Given the description of an element on the screen output the (x, y) to click on. 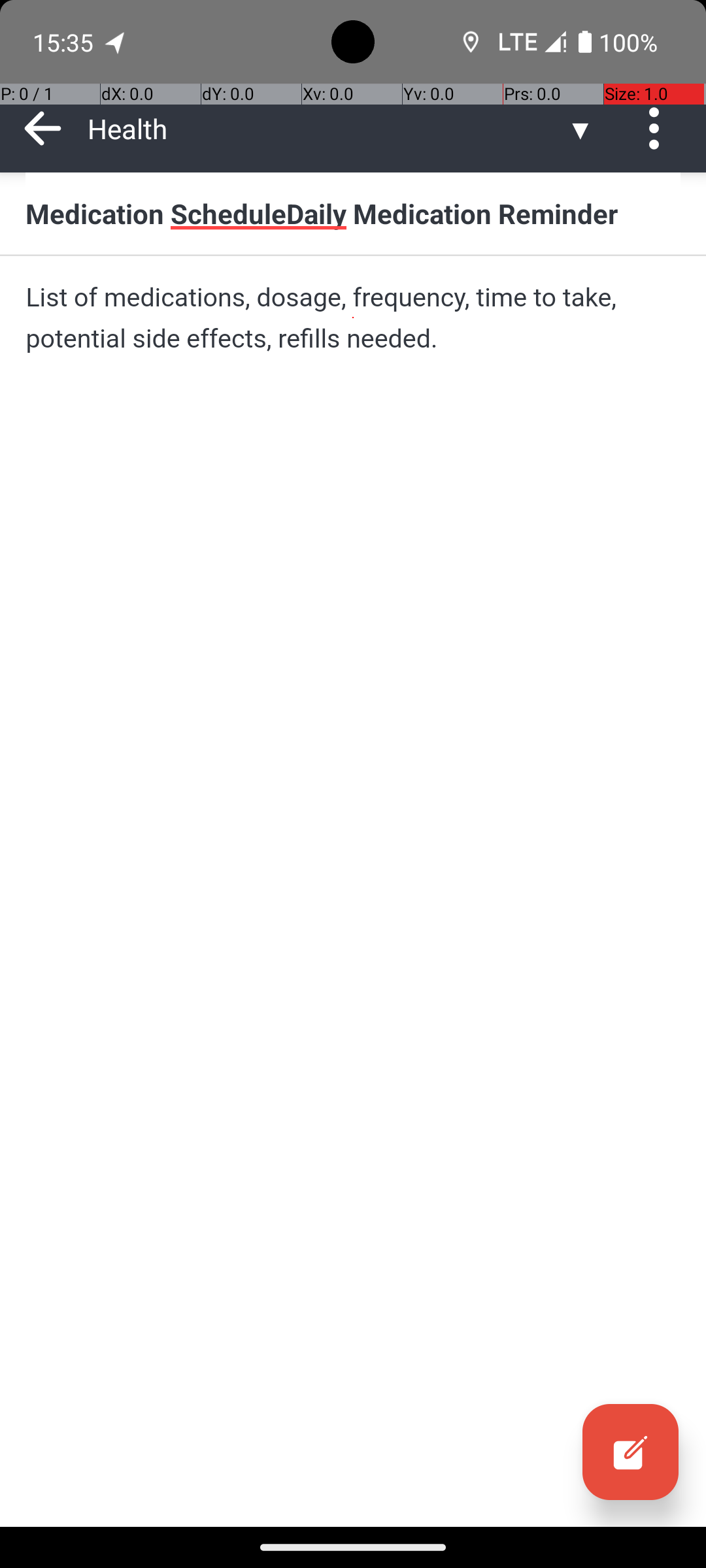
Medication ScheduleDaily Medication Reminder Element type: android.widget.EditText (352, 213)
List of medications, dosage, frequency, time to take, potential side effects, refills needed. Element type: android.widget.TextView (352, 317)
